Given the description of an element on the screen output the (x, y) to click on. 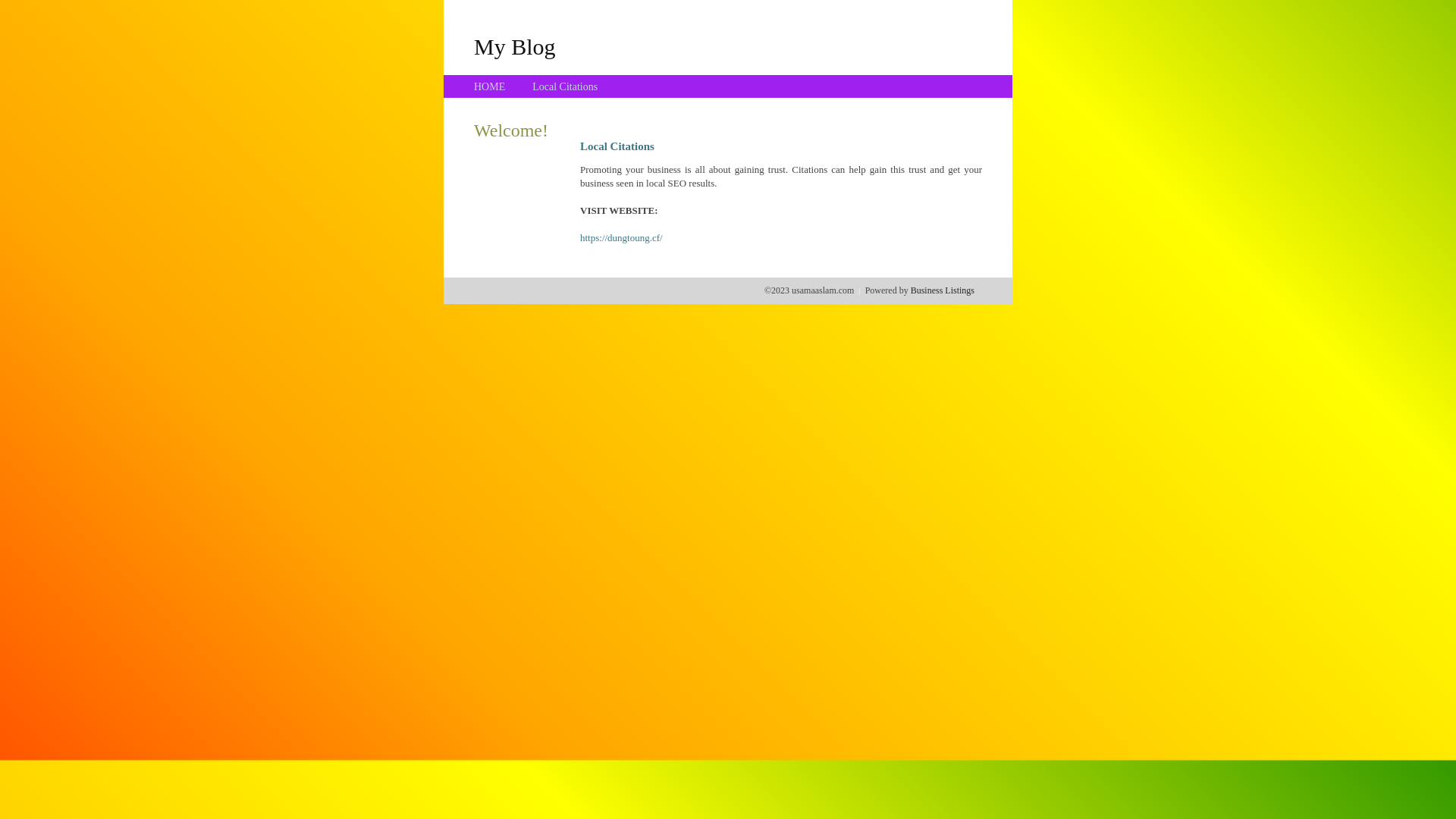
HOME Element type: text (489, 86)
Business Listings Element type: text (942, 290)
https://dungtoung.cf/ Element type: text (621, 237)
My Blog Element type: text (514, 46)
Local Citations Element type: text (564, 86)
